Given the description of an element on the screen output the (x, y) to click on. 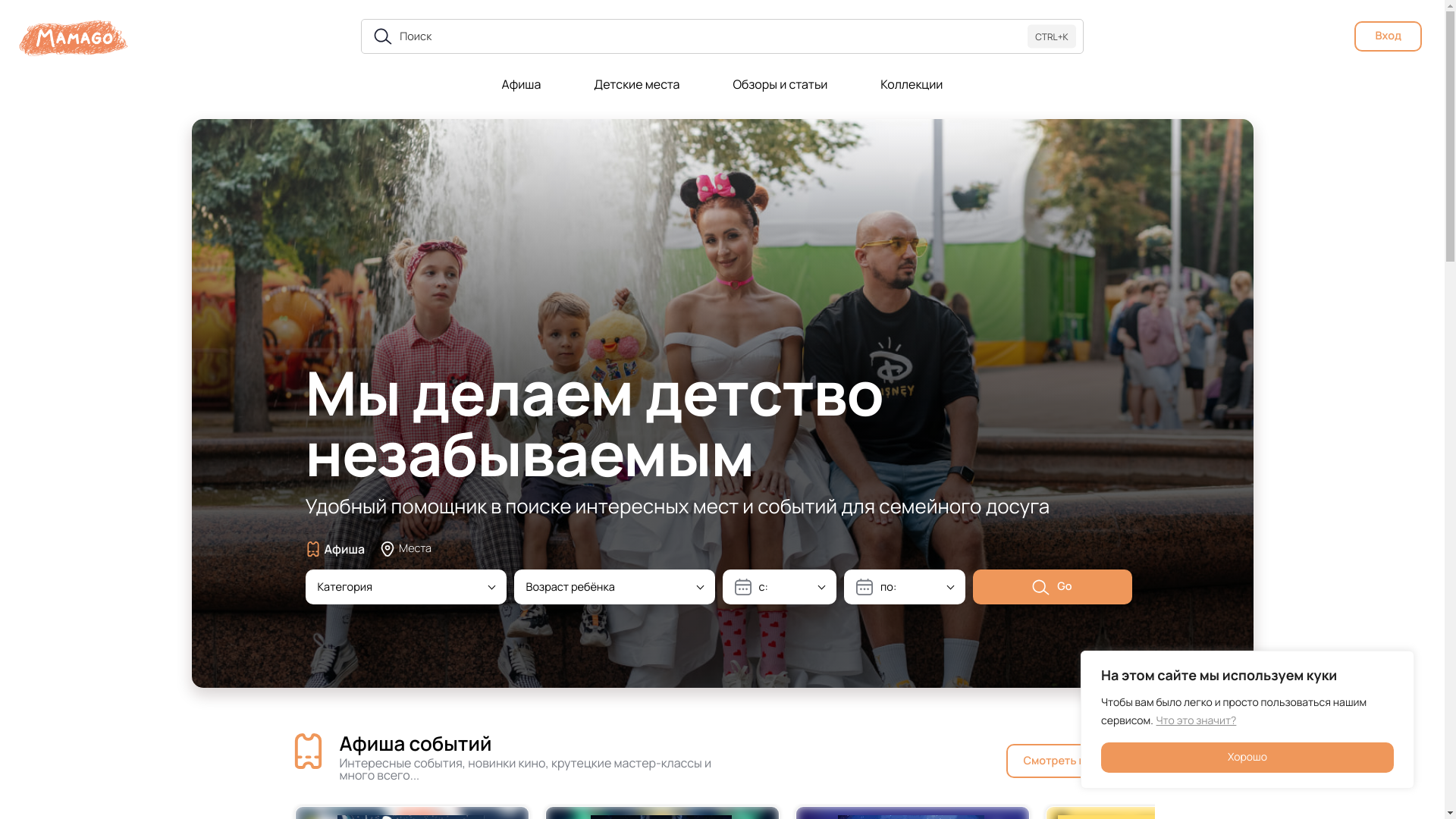
Go Element type: text (1051, 586)
